Given the description of an element on the screen output the (x, y) to click on. 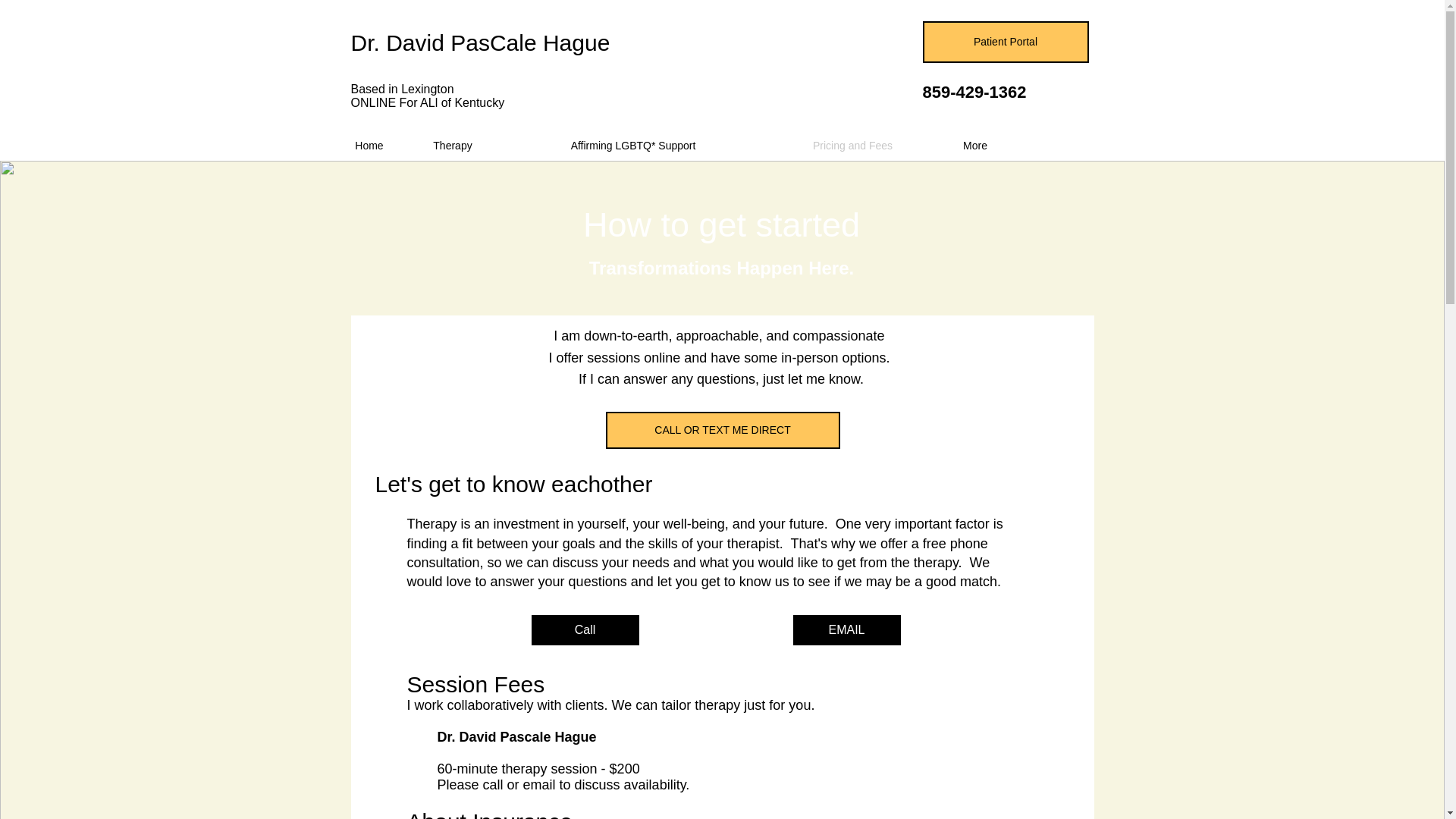
Patient Portal (1004, 42)
CALL OR TEXT ME DIRECT (722, 429)
859-429-1362 (973, 91)
Pricing and Fees (852, 144)
Call (585, 630)
Therapy (451, 144)
EMAIL (847, 630)
Home (369, 144)
